Given the description of an element on the screen output the (x, y) to click on. 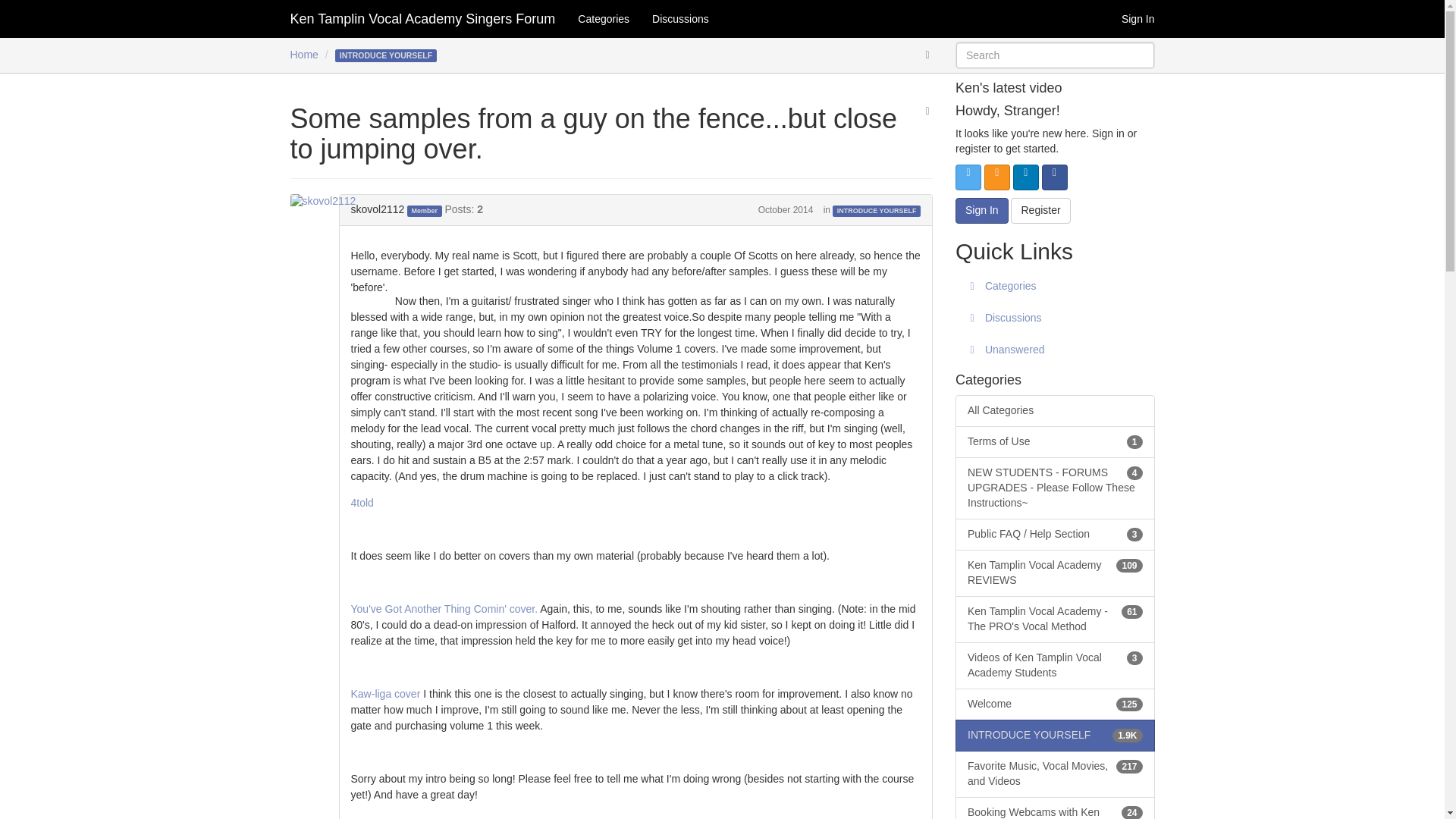
Kaw-liga cover (385, 693)
skovol2112 (377, 209)
Sign In with OpenID (997, 177)
Sign In (1137, 18)
INTRODUCE YOURSELF (876, 210)
Categories (603, 18)
Enter your search term. (1055, 54)
Sign In with Facebook (1054, 177)
You've Got Another Thing Comin' cover. (443, 608)
skovol2112 (327, 201)
Sign In with LinkedIn (1026, 177)
4told (361, 502)
Home (303, 54)
Sign In with Twitter (968, 177)
October 20, 2014 4:44PM (785, 209)
